Given the description of an element on the screen output the (x, y) to click on. 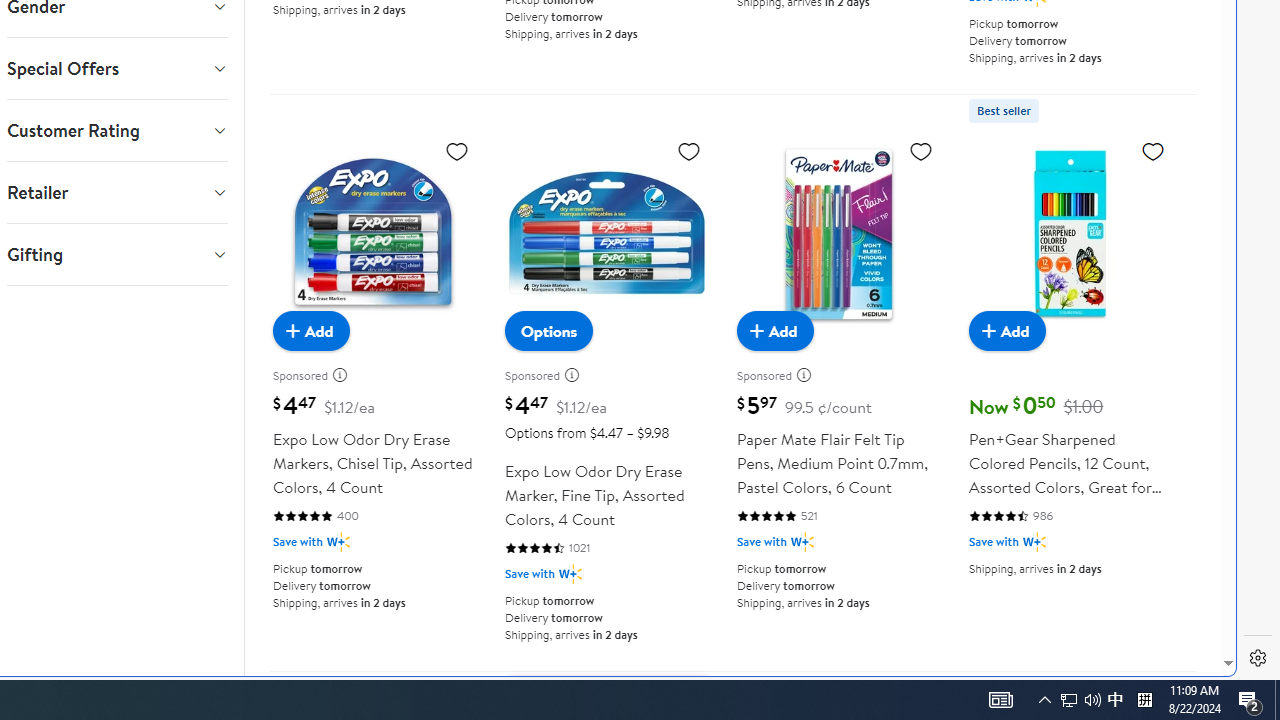
Walmart Plus (1034, 542)
Ad disclaimer and feedback (809, 375)
